Given the description of an element on the screen output the (x, y) to click on. 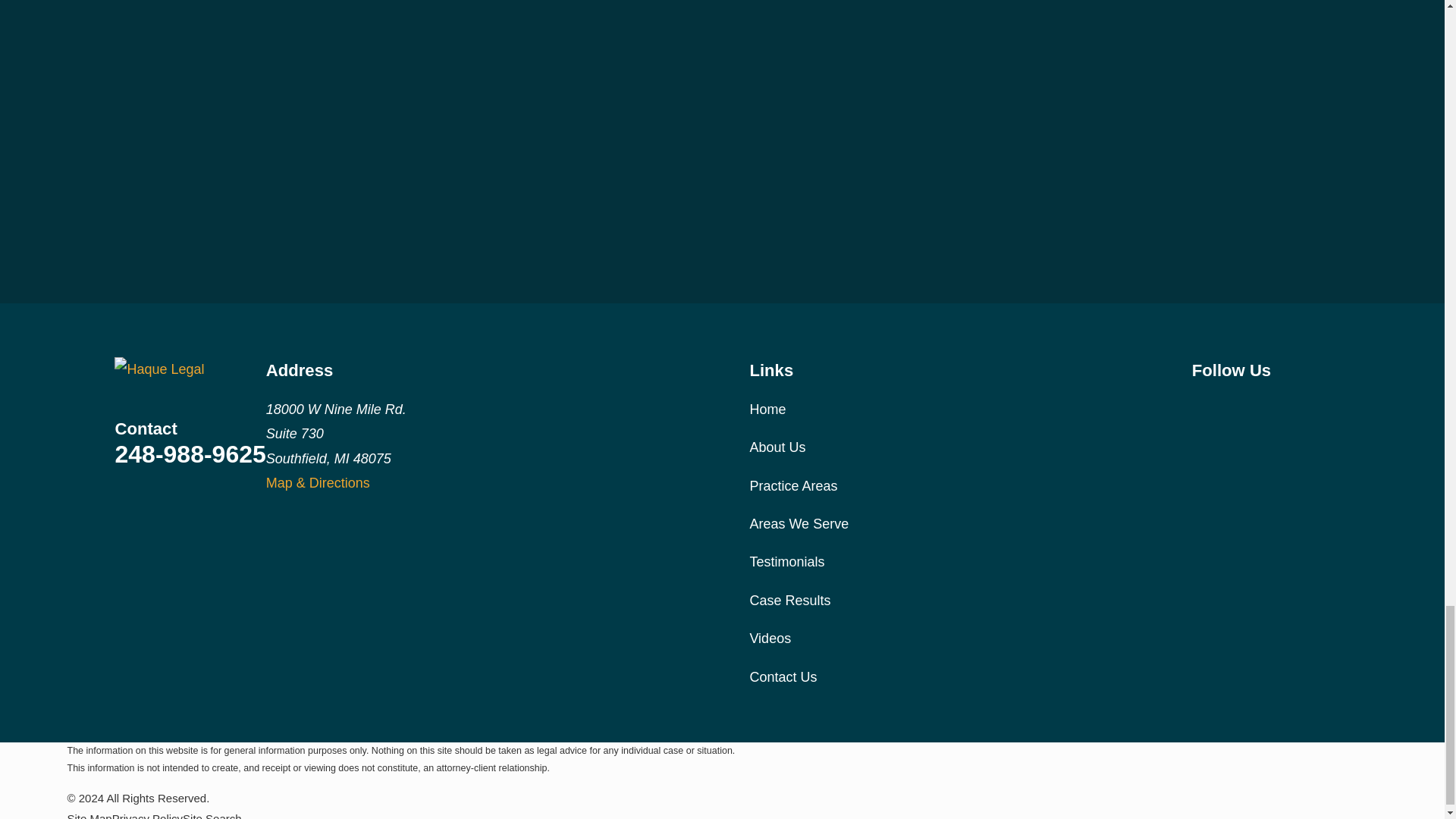
Facebook (1201, 406)
Home (189, 369)
Instagram (1240, 406)
YouTube (1280, 406)
